Given the description of an element on the screen output the (x, y) to click on. 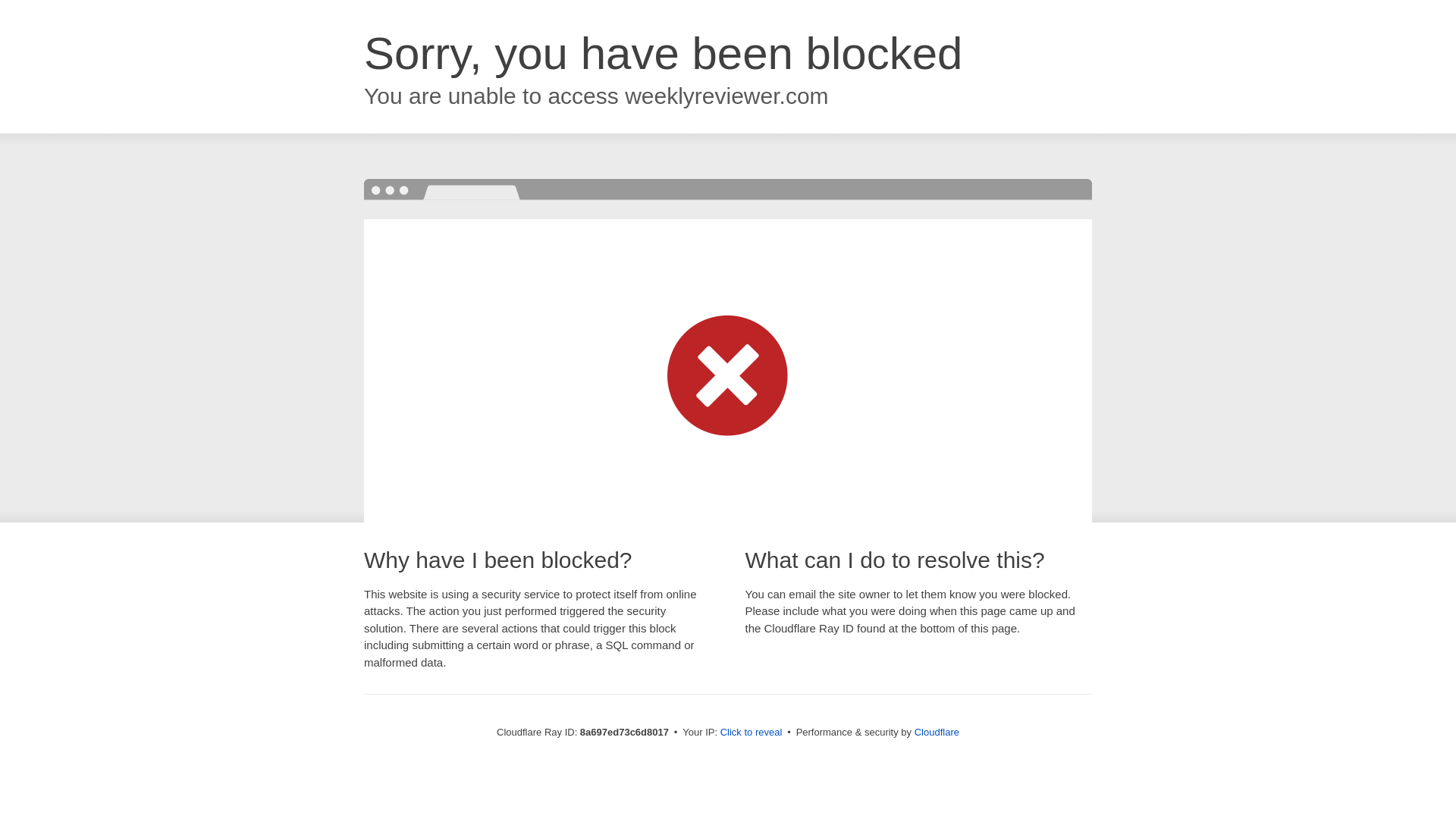
Click to reveal (751, 732)
Cloudflare (936, 731)
